Given the description of an element on the screen output the (x, y) to click on. 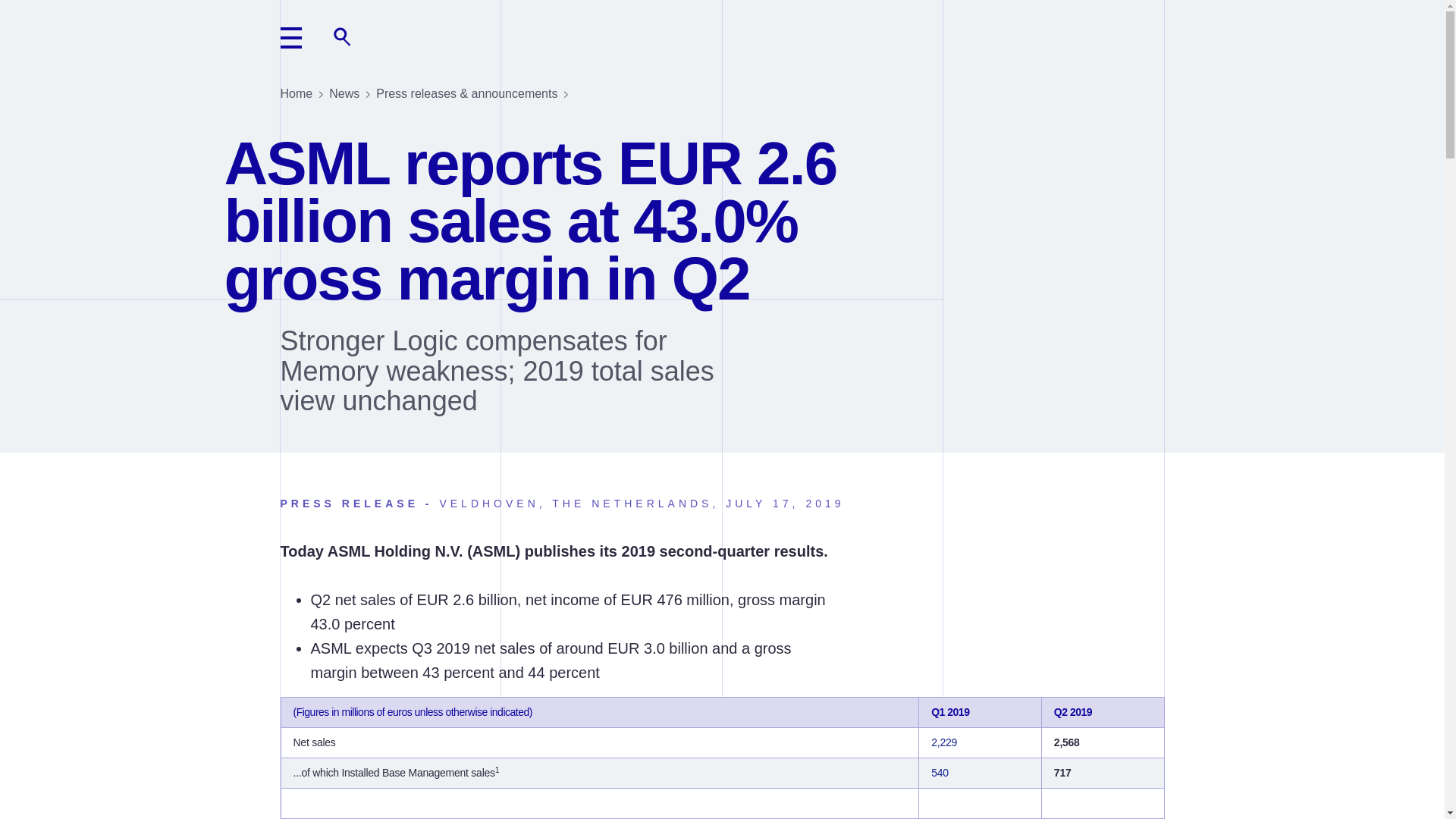
toggle search (343, 37)
toggle main header (291, 37)
ASML Homepage (100, 37)
